Given the description of an element on the screen output the (x, y) to click on. 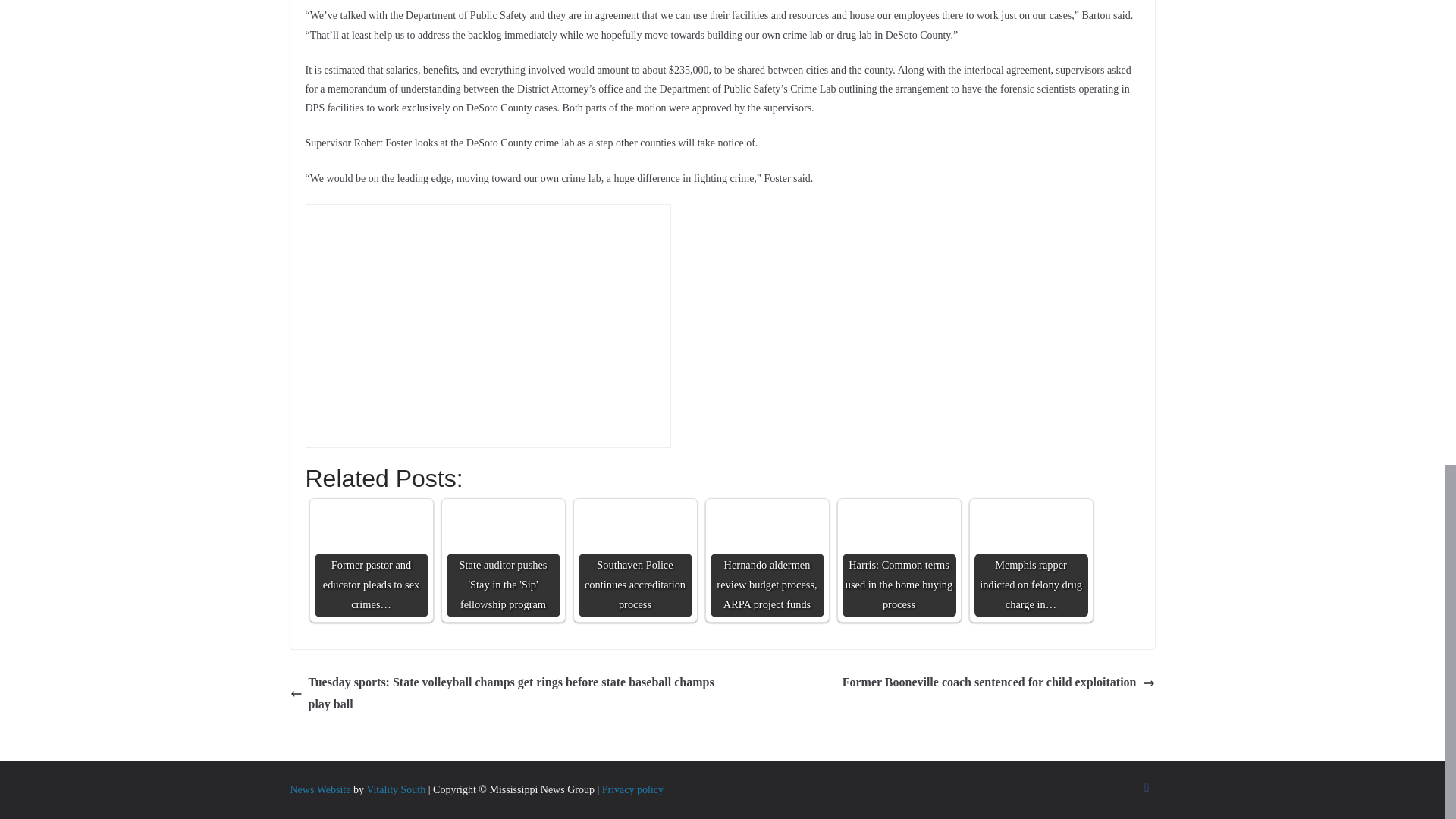
Harris: Common terms used in the home buying process (898, 560)
State auditor pushes 'Stay in the 'Sip' fellowship program (502, 560)
Southaven Police continues accreditation process (634, 560)
Hernando aldermen review budget process, ARPA project funds (767, 541)
